Given the description of an element on the screen output the (x, y) to click on. 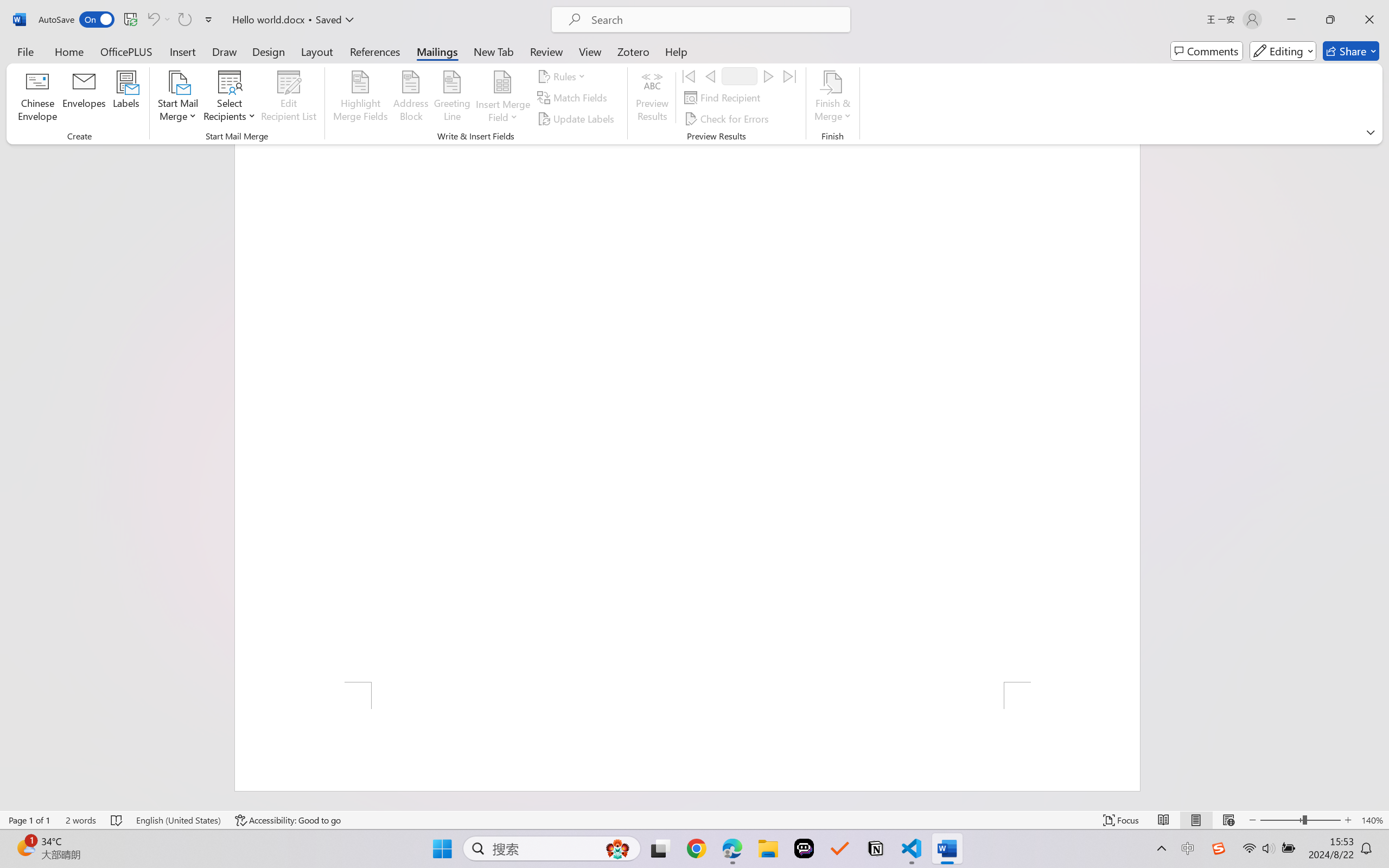
Spelling and Grammar Check No Errors (117, 819)
Home (69, 51)
Can't Repeat (184, 19)
Class: MsoCommandBar (694, 819)
Draw (224, 51)
Restore Down (1330, 19)
OfficePLUS (126, 51)
References (375, 51)
Share (1350, 51)
Zoom 140% (1372, 819)
